Given the description of an element on the screen output the (x, y) to click on. 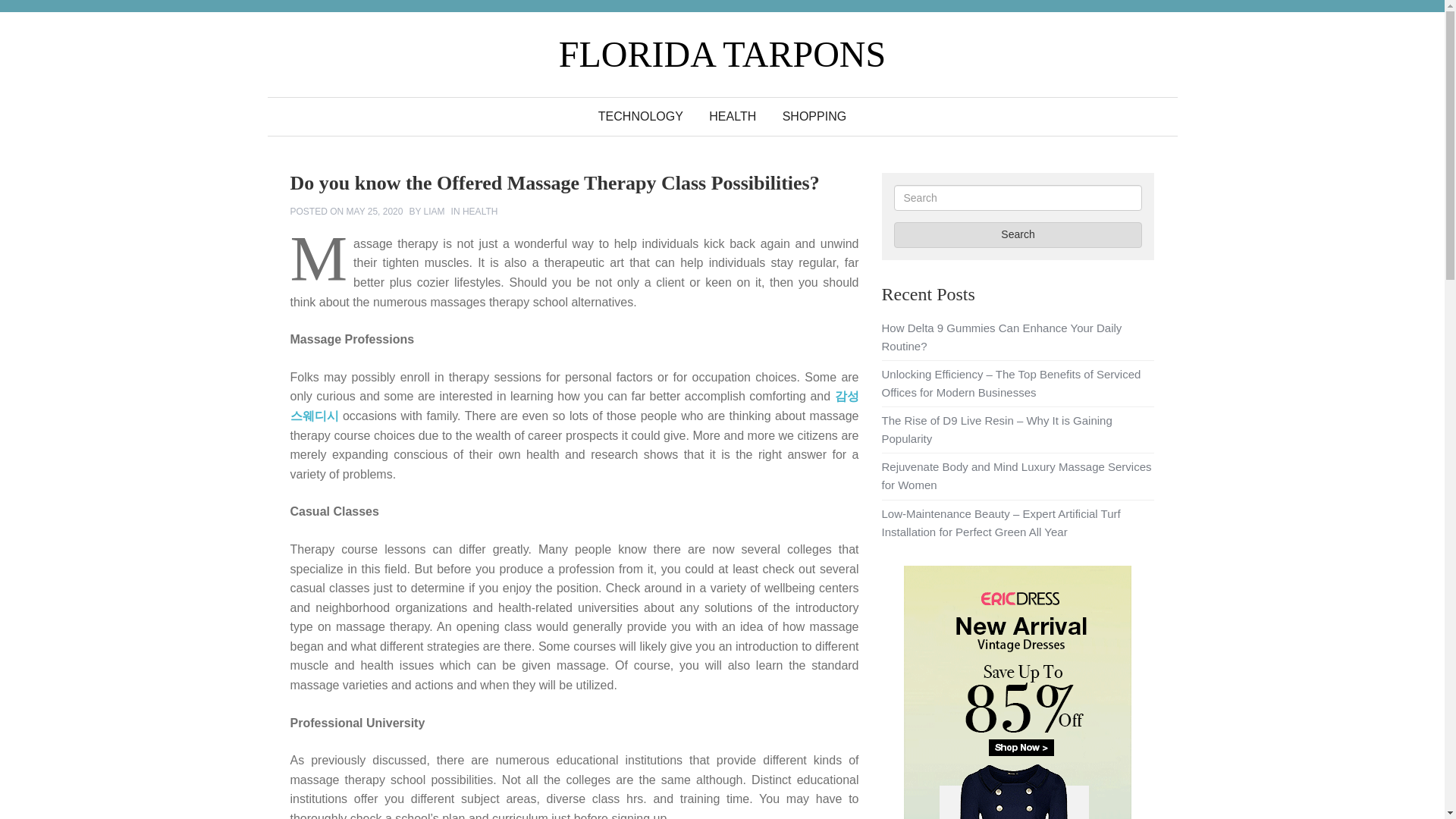
MAY 25, 2020 (374, 211)
HEALTH (480, 211)
SHOPPING (814, 116)
TECHNOLOGY (640, 116)
FLORIDA TARPONS (722, 54)
Rejuvenate Body and Mind Luxury Massage Services for Women (1015, 475)
Search (1017, 234)
LIAM (434, 211)
HEALTH (732, 116)
How Delta 9 Gummies Can Enhance Your Daily Routine? (1000, 336)
